Given the description of an element on the screen output the (x, y) to click on. 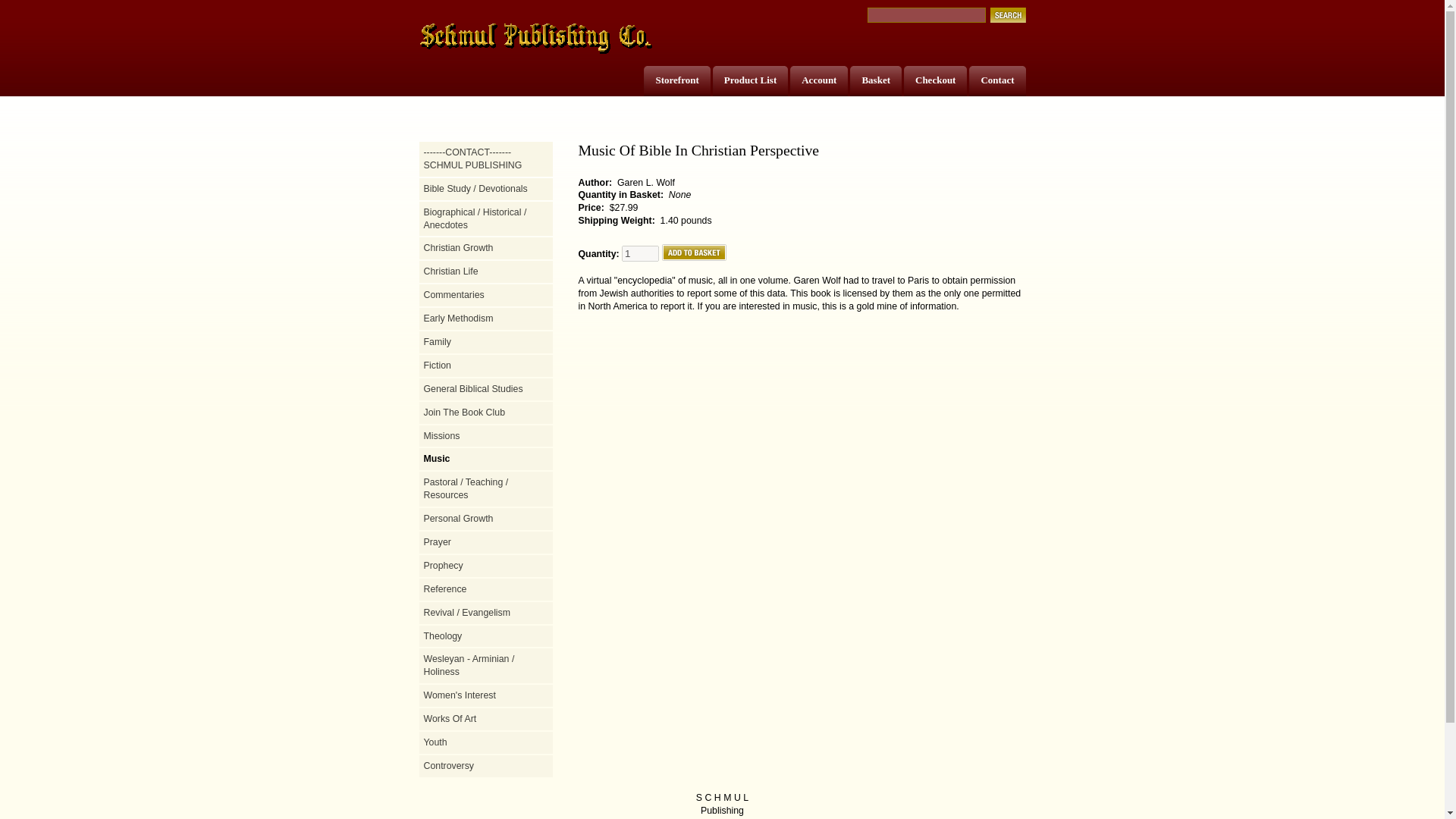
Prayer (485, 542)
Reference (485, 589)
Product List (749, 79)
Account (818, 79)
Controversy (485, 766)
Storefront (676, 79)
Missions (485, 436)
Works Of Art (485, 718)
Women's Interest (485, 695)
Contact (996, 79)
